Given the description of an element on the screen output the (x, y) to click on. 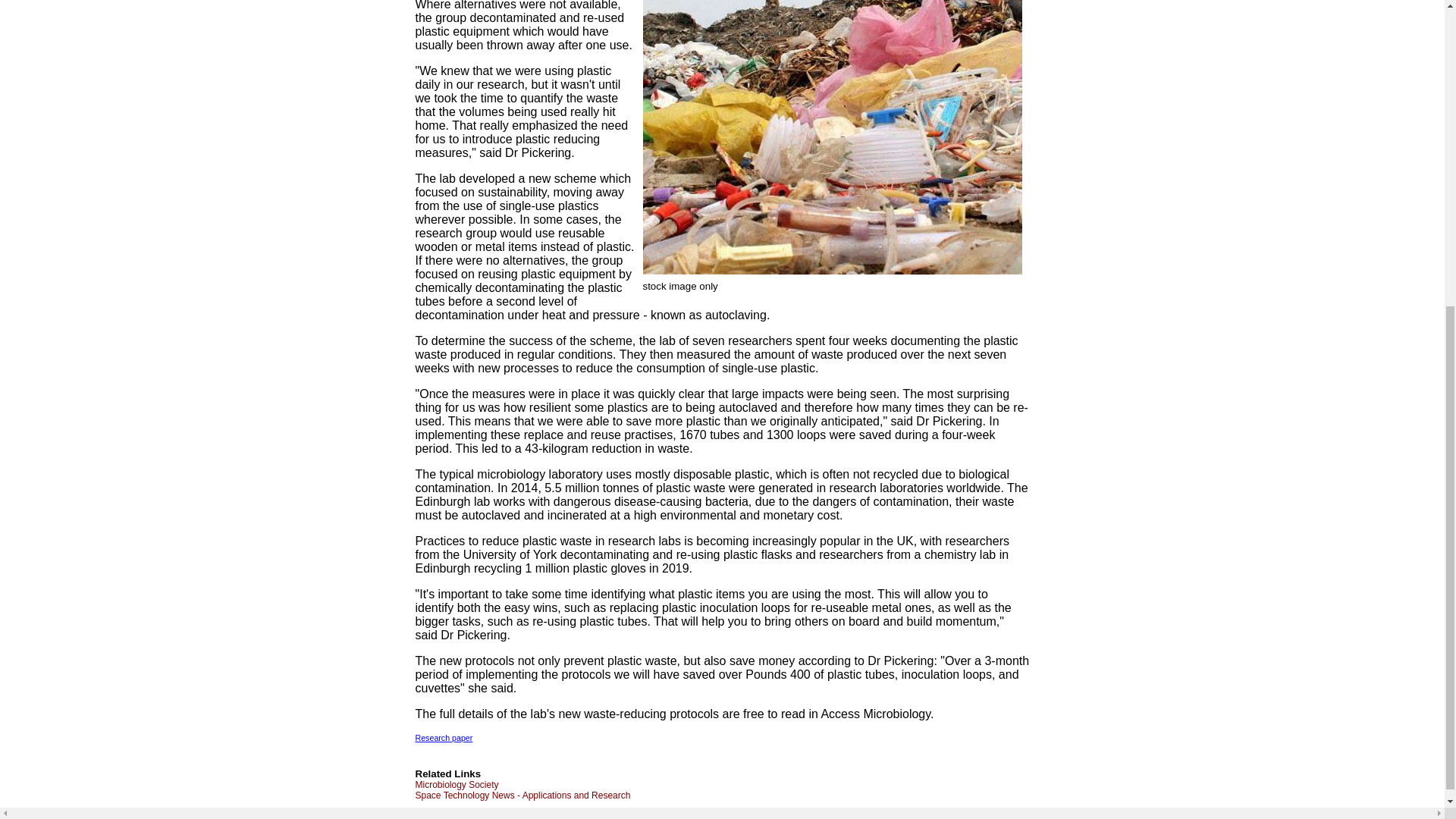
Research paper (443, 737)
Microbiology Society (456, 784)
Space Technology News - Applications and Research (522, 795)
